Given the description of an element on the screen output the (x, y) to click on. 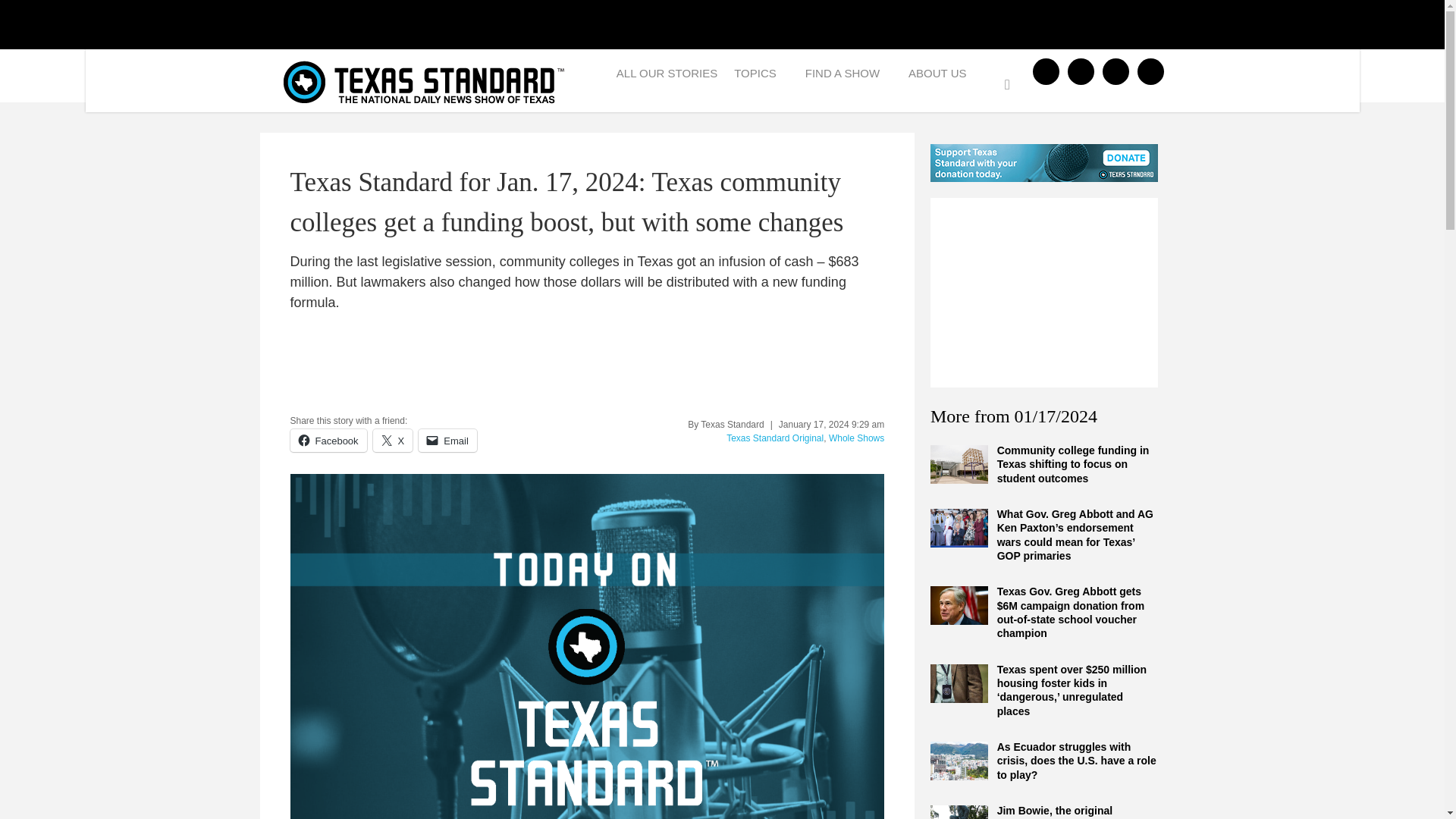
Click to share on Facebook (327, 440)
ALL OUR STORIES (666, 77)
Click to share on X (392, 440)
TOPICS (761, 77)
Click to email a link to a friend (448, 440)
